Given the description of an element on the screen output the (x, y) to click on. 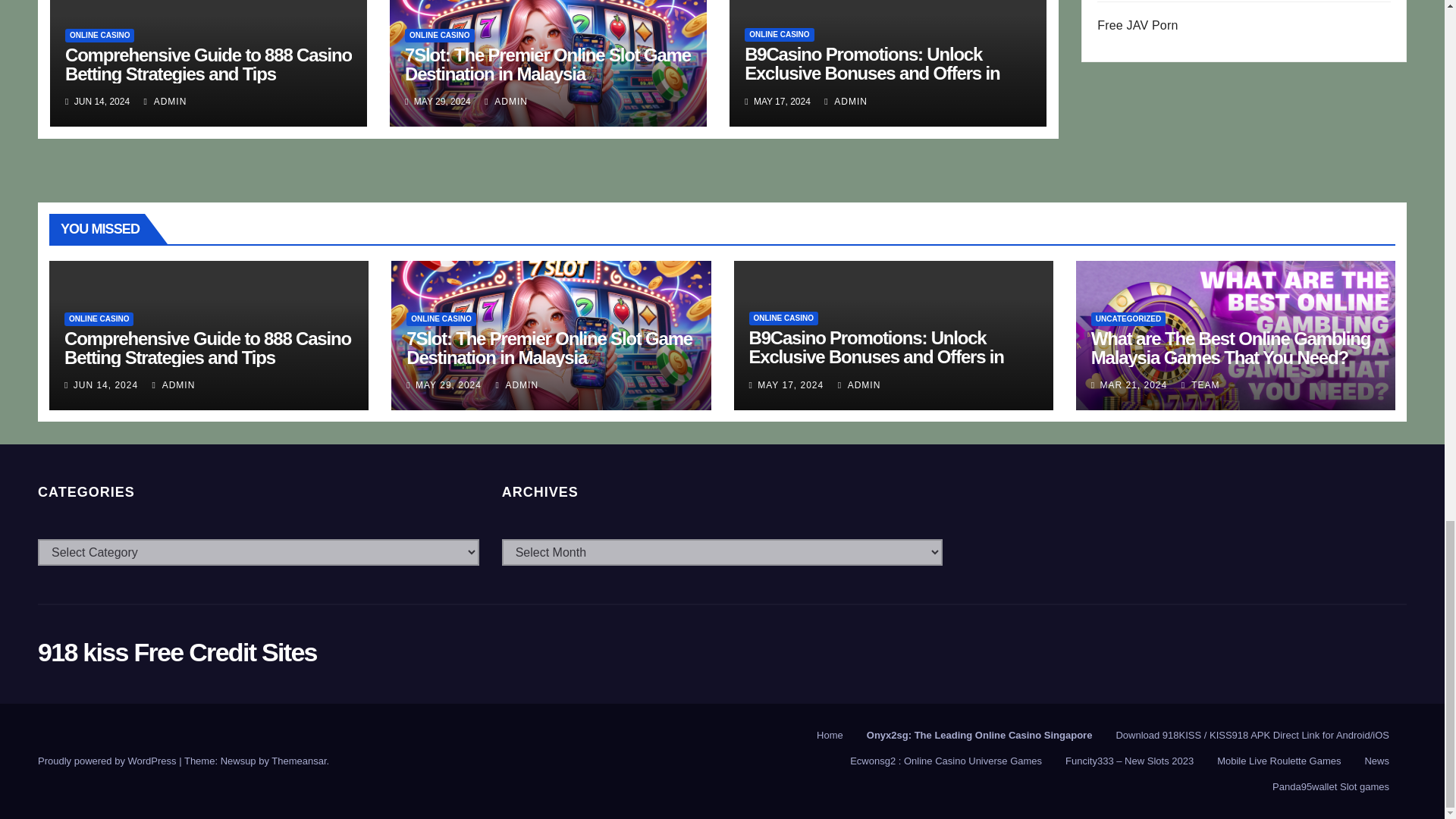
Home (829, 735)
